Given the description of an element on the screen output the (x, y) to click on. 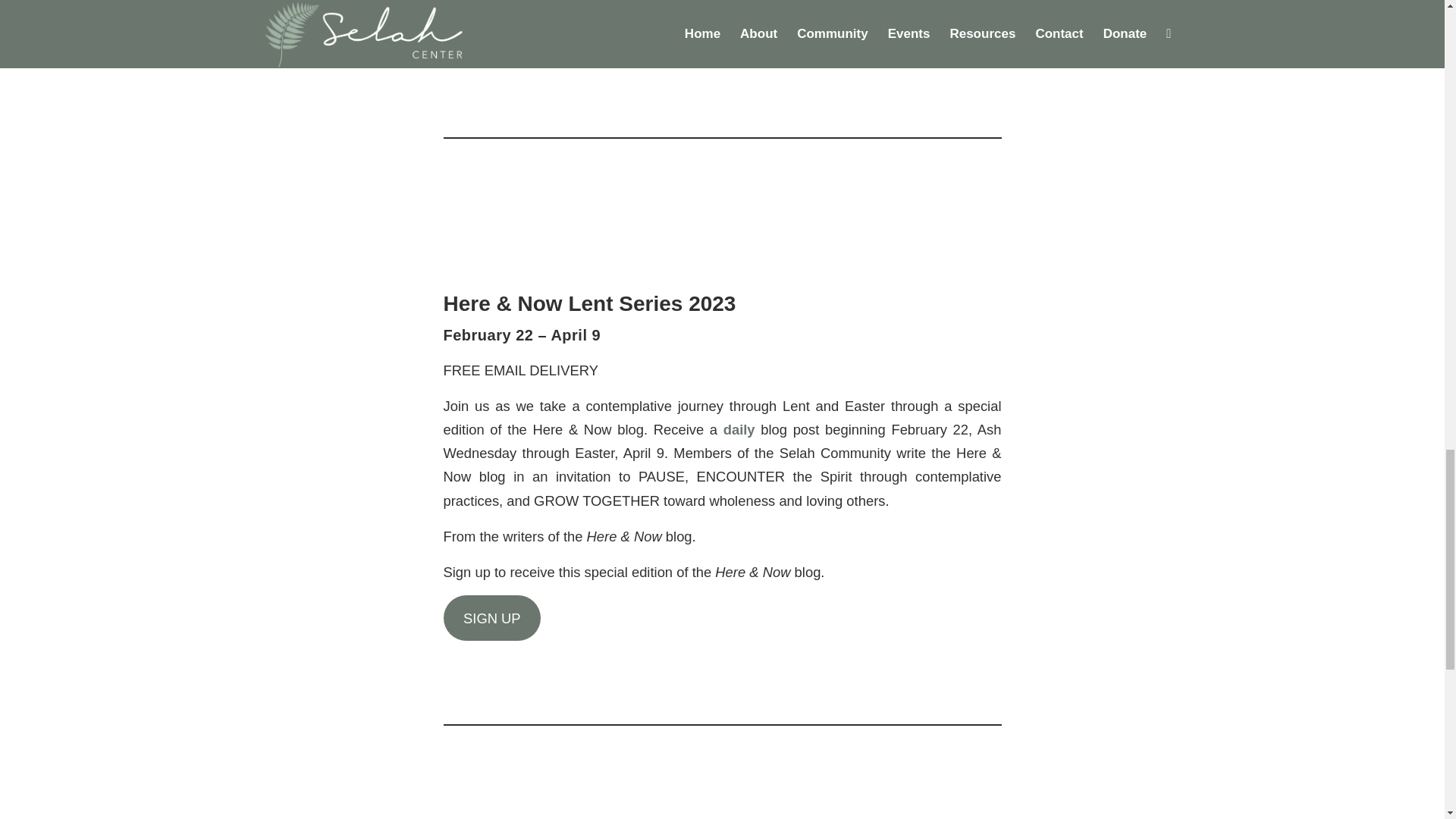
SIGN UP (491, 617)
RSVP (481, 31)
